Given the description of an element on the screen output the (x, y) to click on. 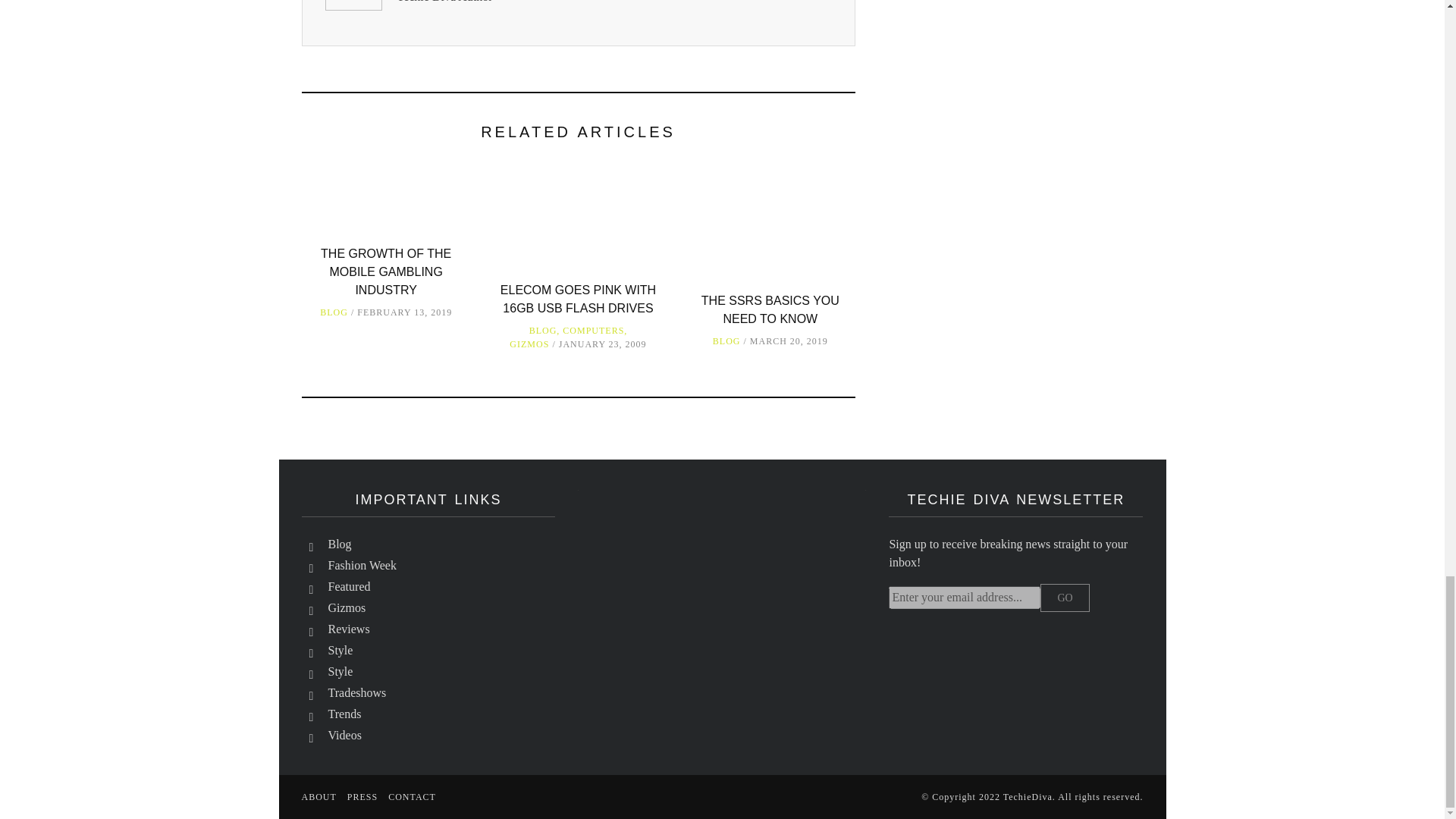
Enter your email address... (964, 597)
GO (1065, 597)
